Given the description of an element on the screen output the (x, y) to click on. 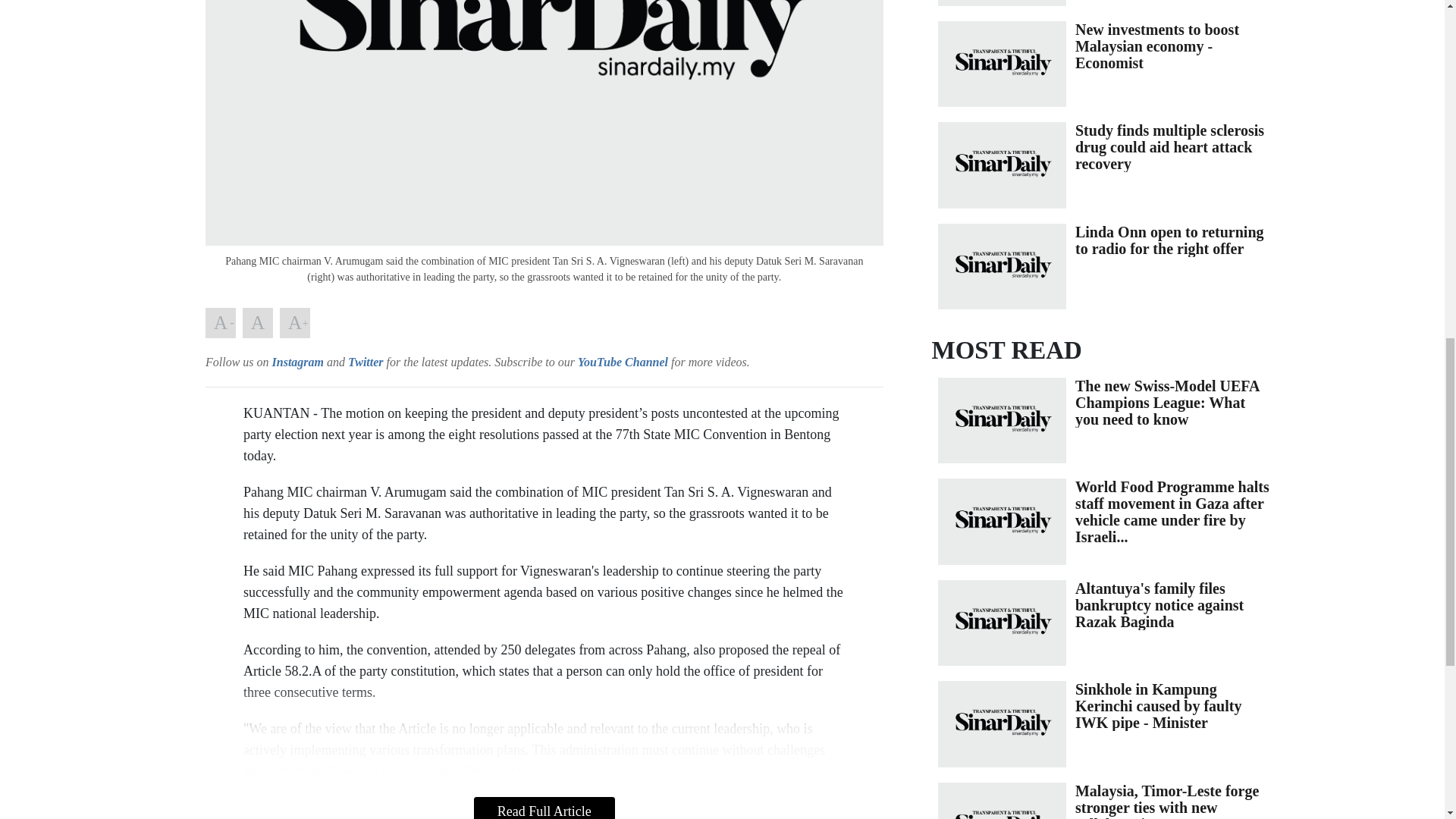
Teks Asal (258, 322)
Teks Kecil (220, 322)
Teks Besar (294, 322)
